Given the description of an element on the screen output the (x, y) to click on. 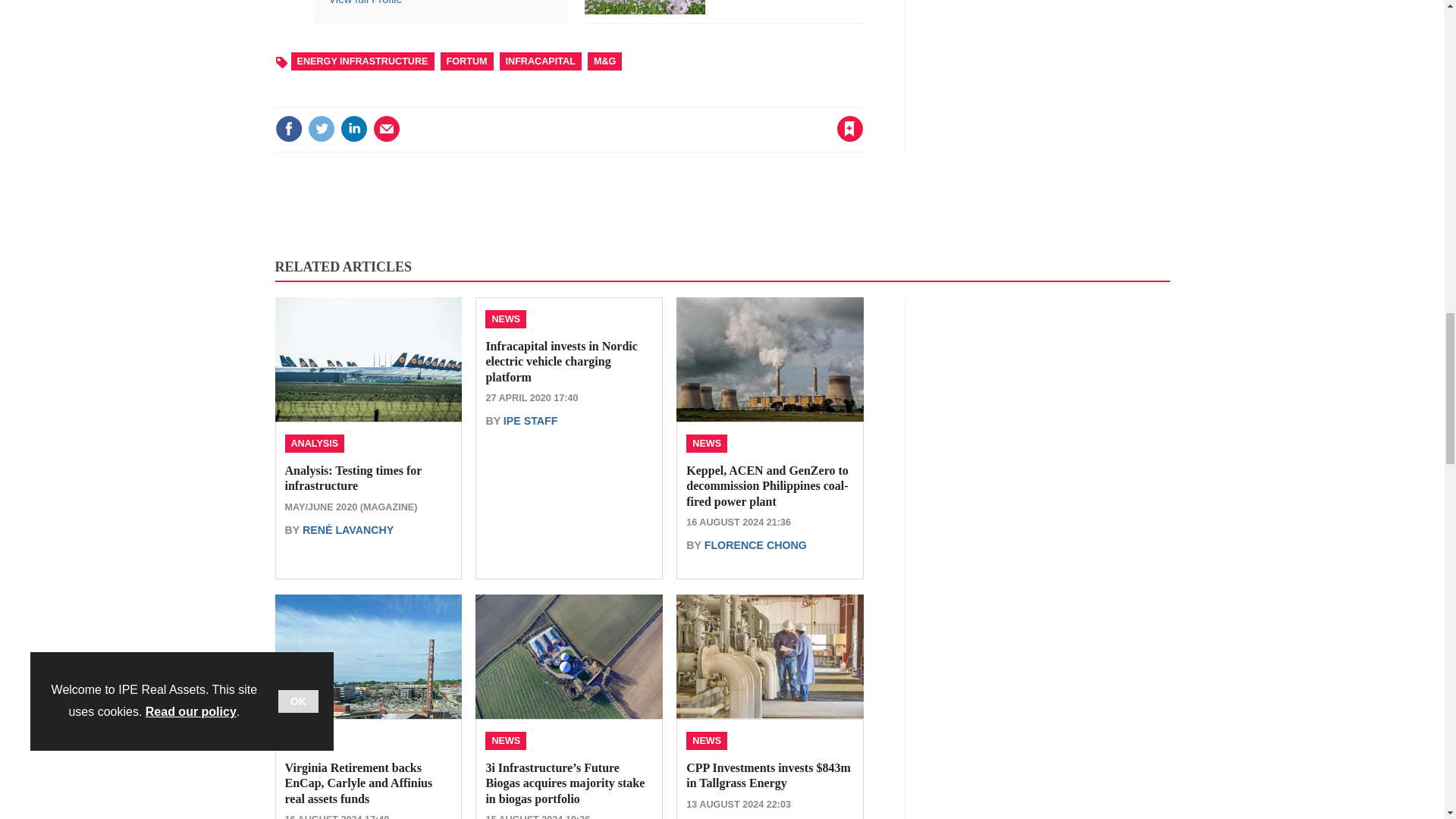
Share this on Facebook (288, 128)
Share this on Linked in (352, 128)
Share this on Twitter (320, 128)
Email this article (386, 128)
